Given the description of an element on the screen output the (x, y) to click on. 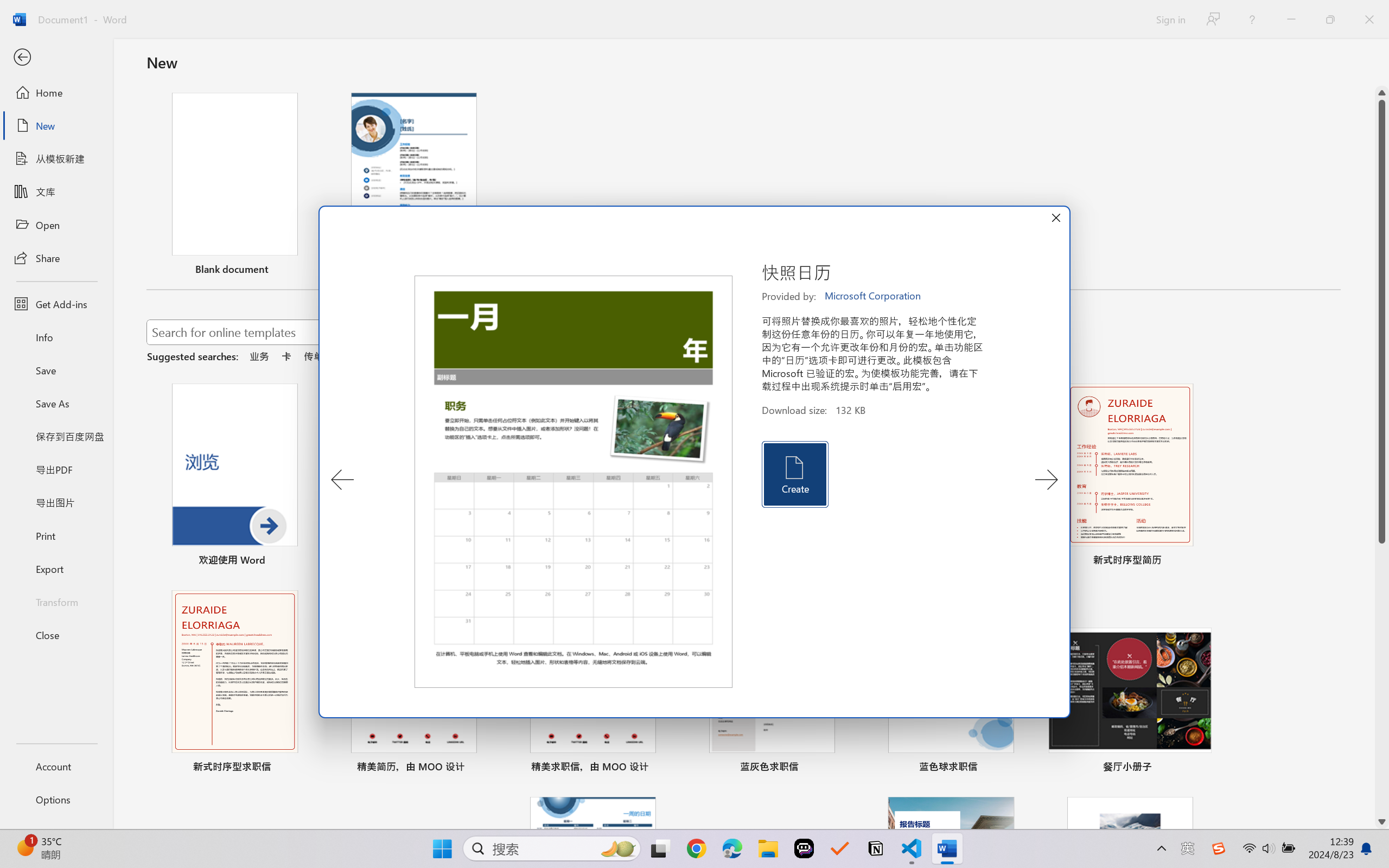
Options (56, 798)
Pin to list (1200, 767)
Line down (1382, 821)
Microsoft Edge (731, 848)
